Given the description of an element on the screen output the (x, y) to click on. 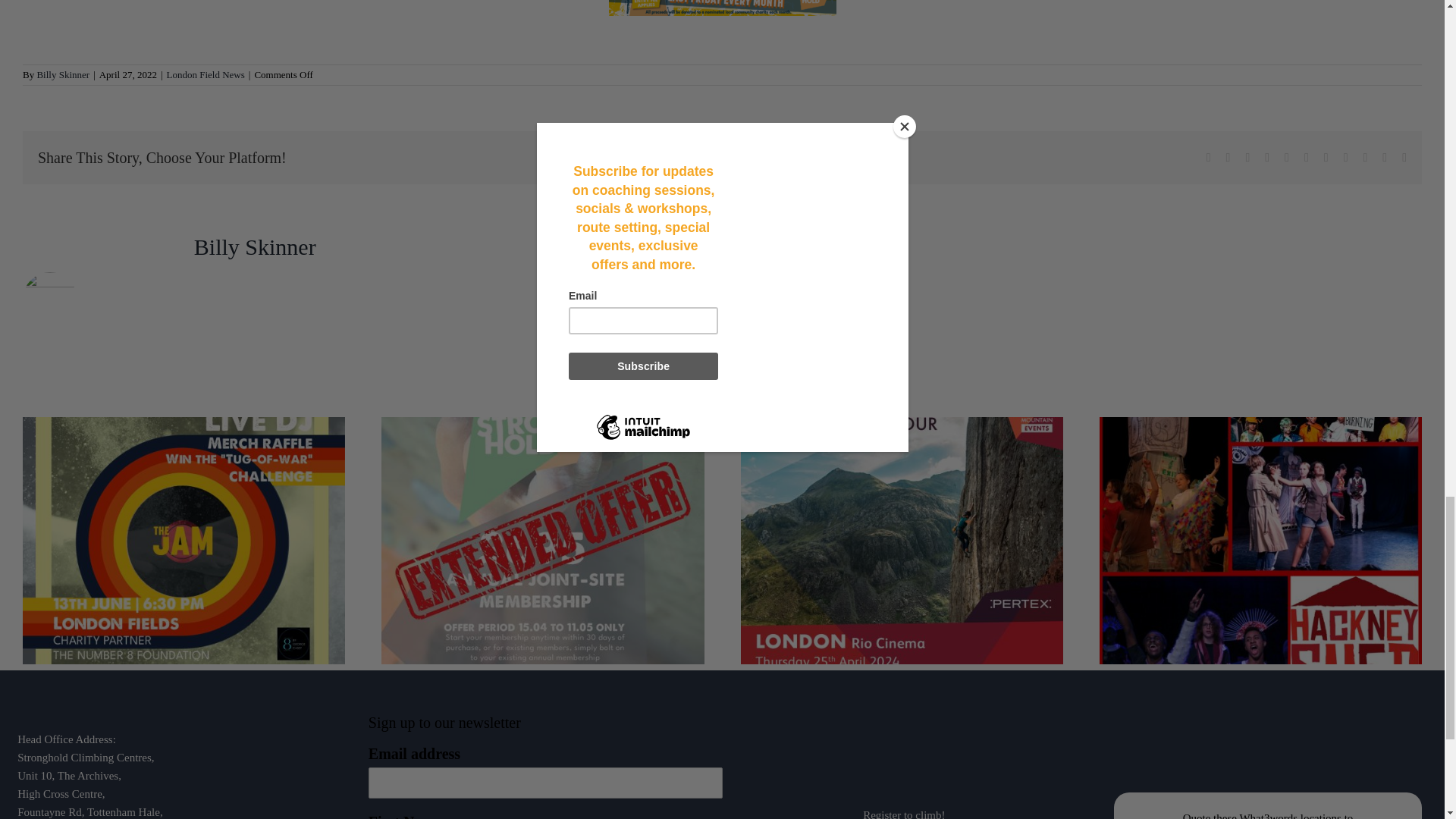
Posts by Billy Skinner (254, 246)
Posts by Billy Skinner (62, 74)
